Given the description of an element on the screen output the (x, y) to click on. 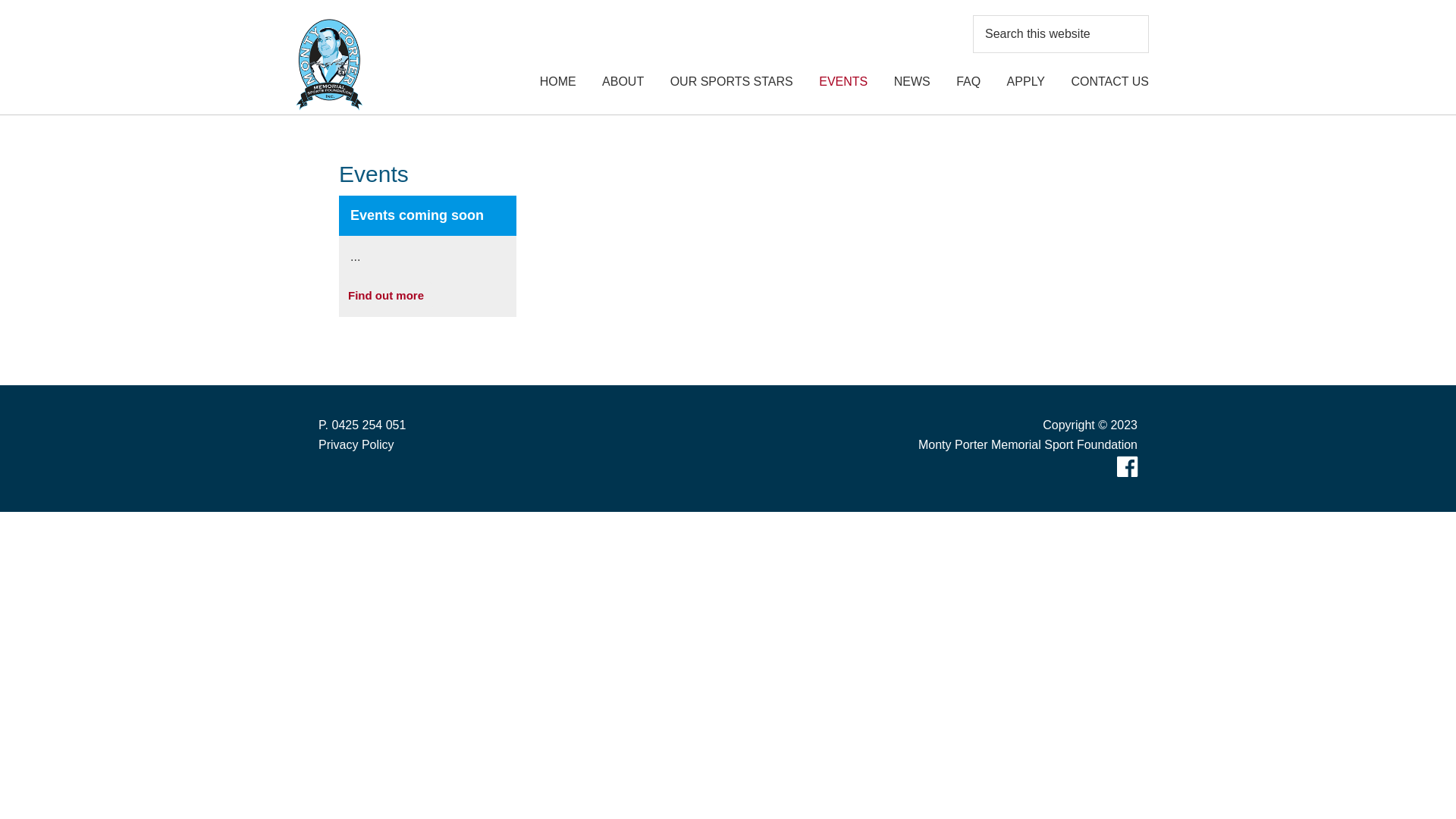
EVENTS Element type: text (842, 81)
Privacy Policy Element type: text (356, 444)
ABOUT Element type: text (622, 81)
APPLY Element type: text (1025, 81)
Skip to primary navigation Element type: text (0, 0)
HOME Element type: text (557, 81)
Events coming soon Element type: text (410, 215)
Find out more Element type: text (385, 295)
CONTACT US Element type: text (1109, 81)
OUR SPORTS STARS Element type: text (731, 81)
FAQ Element type: text (967, 81)
Search Element type: text (1148, 14)
NEWS Element type: text (911, 81)
